Given the description of an element on the screen output the (x, y) to click on. 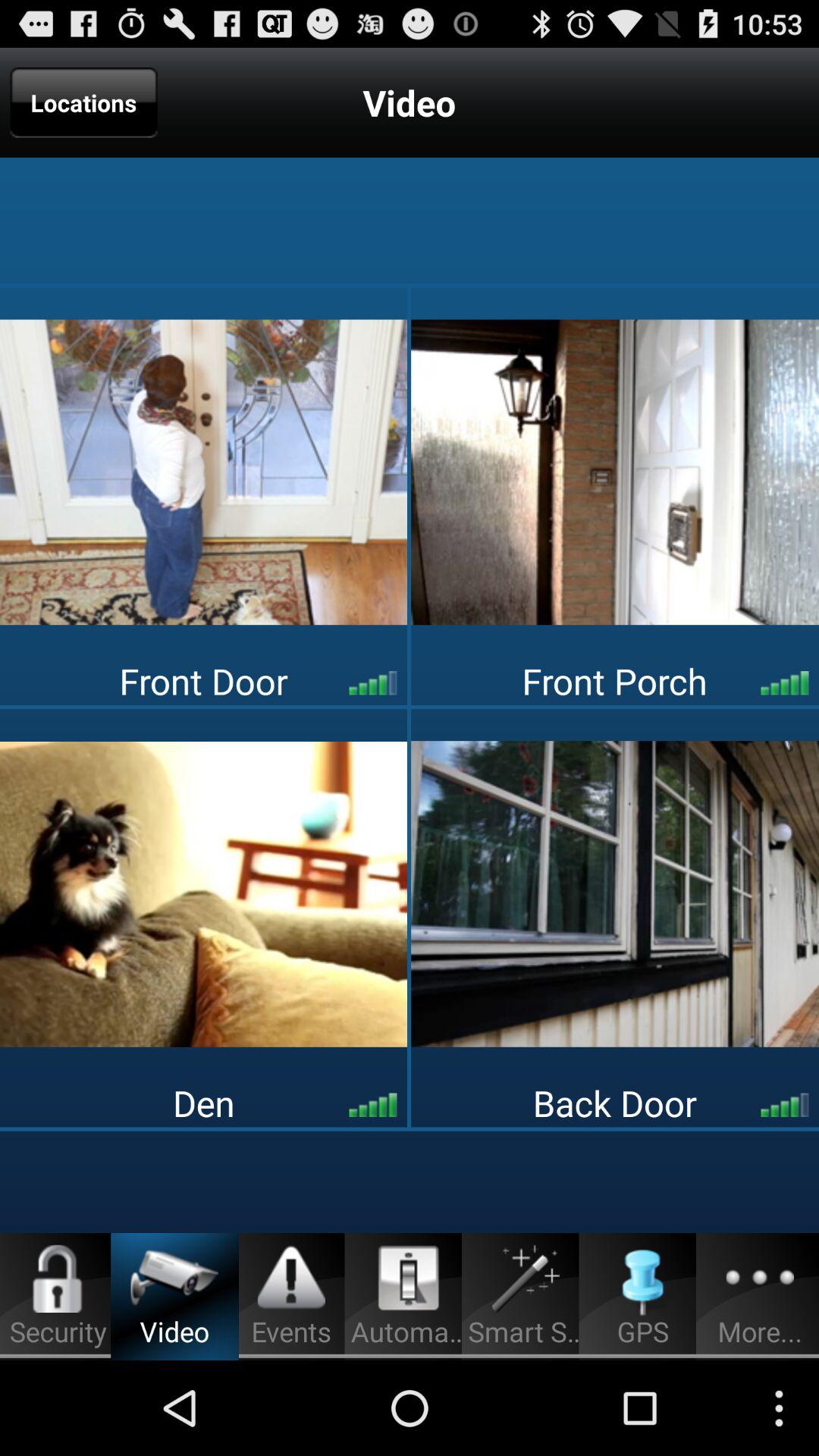
watch front door camera (203, 471)
